Given the description of an element on the screen output the (x, y) to click on. 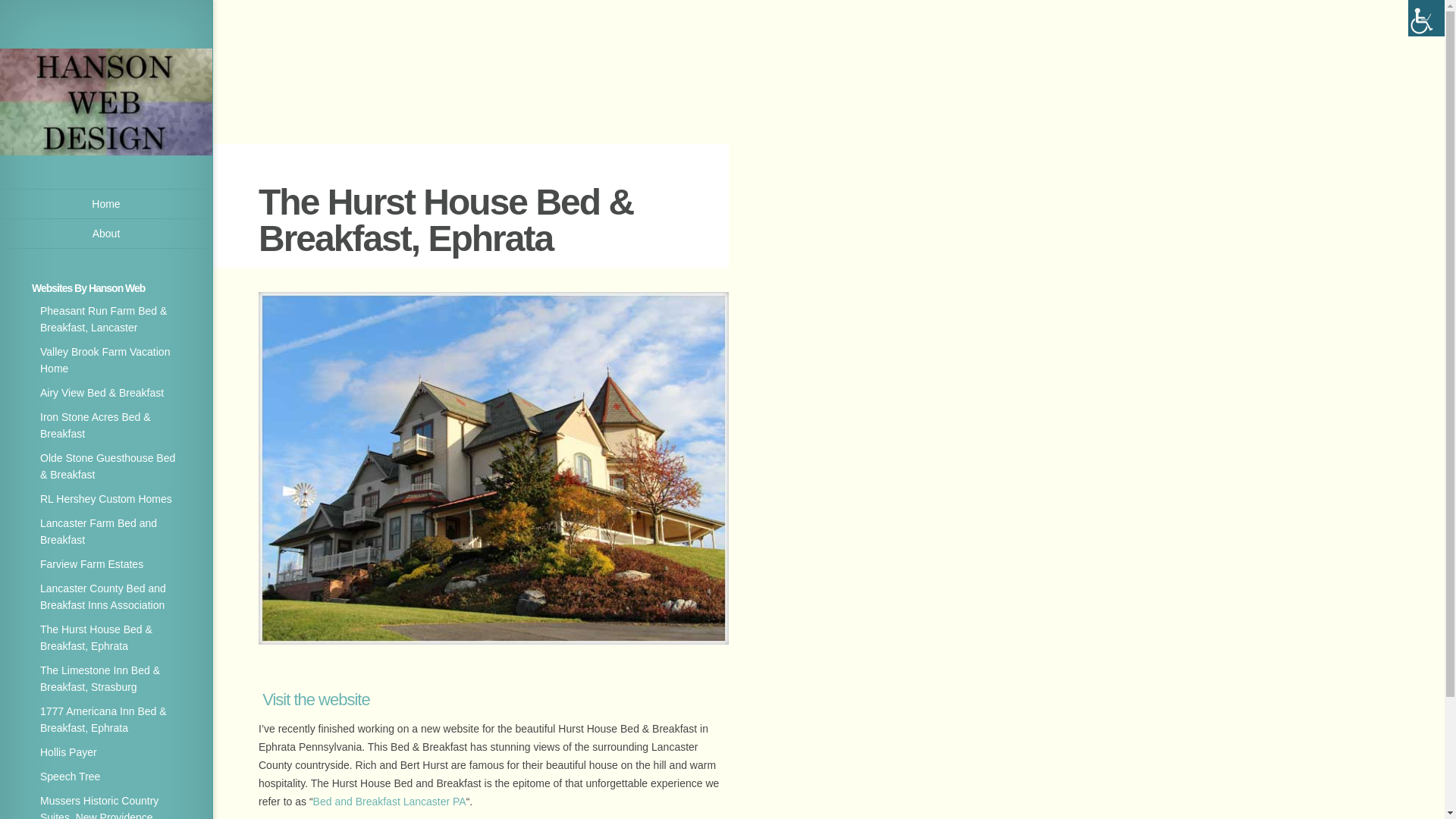
Farview Farm Estates (91, 563)
RL Hershey Custom Homes (105, 499)
Bed and Breakfast Lancaster PA (389, 801)
Home (106, 204)
Bed and Breakfast Lancaster PA (389, 801)
Lancaster County Bed and Breakfast Inns Association (102, 596)
Speech Tree (70, 776)
Visit the website (315, 699)
Lancaster Farm Bed and Breakfast (98, 531)
Hollis Payer (68, 752)
